Given the description of an element on the screen output the (x, y) to click on. 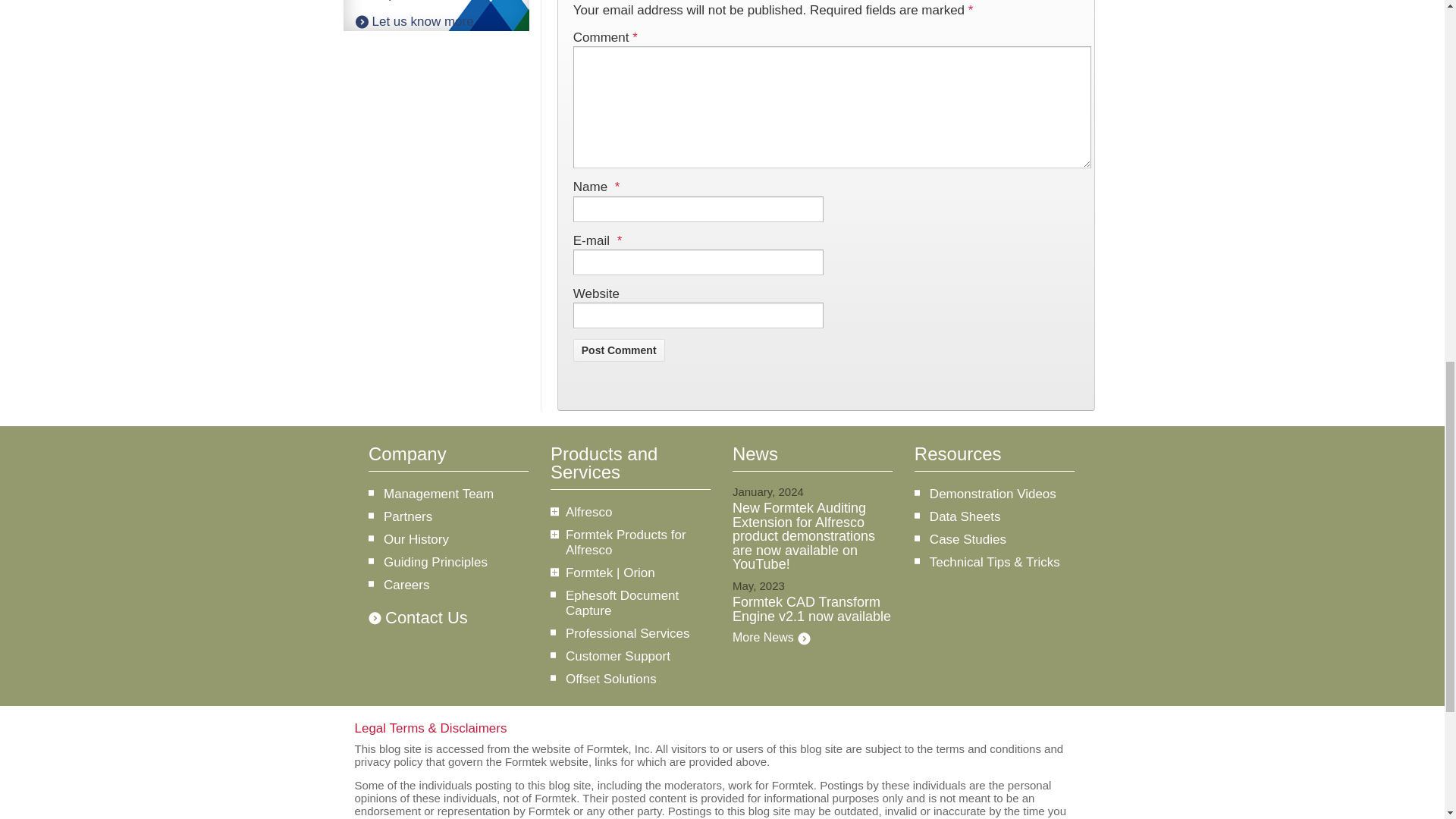
Post Comment (619, 350)
